Given the description of an element on the screen output the (x, y) to click on. 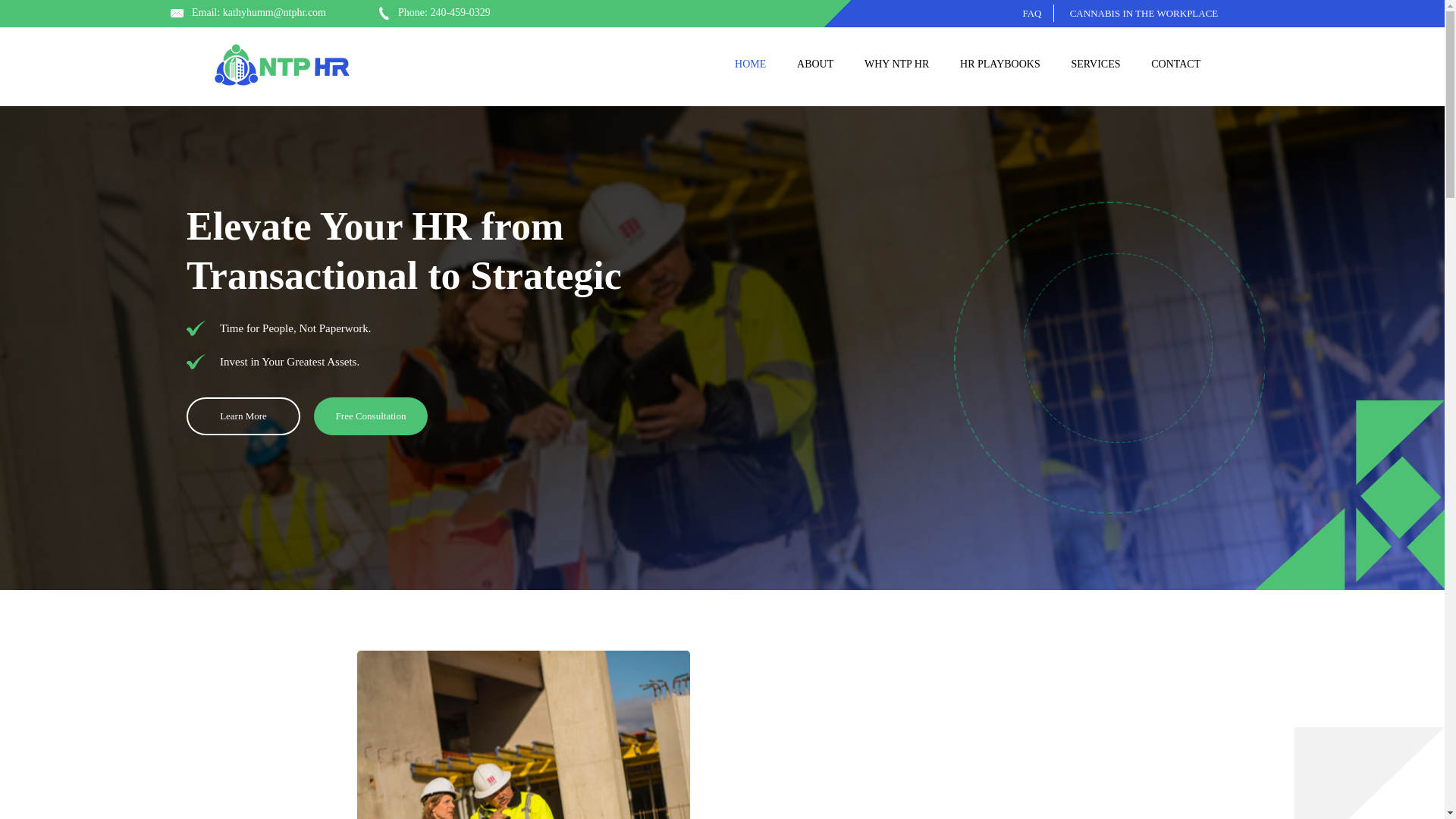
Learn More (242, 415)
SERVICES (1095, 63)
HR PLAYBOOKS (999, 63)
Corals (522, 734)
CONTACT (1175, 63)
240-459-0329 (459, 12)
CANNABIS IN THE WORKPLACE (1144, 13)
ABOUT (814, 63)
HOME (750, 63)
Free Consultation (371, 415)
